Given the description of an element on the screen output the (x, y) to click on. 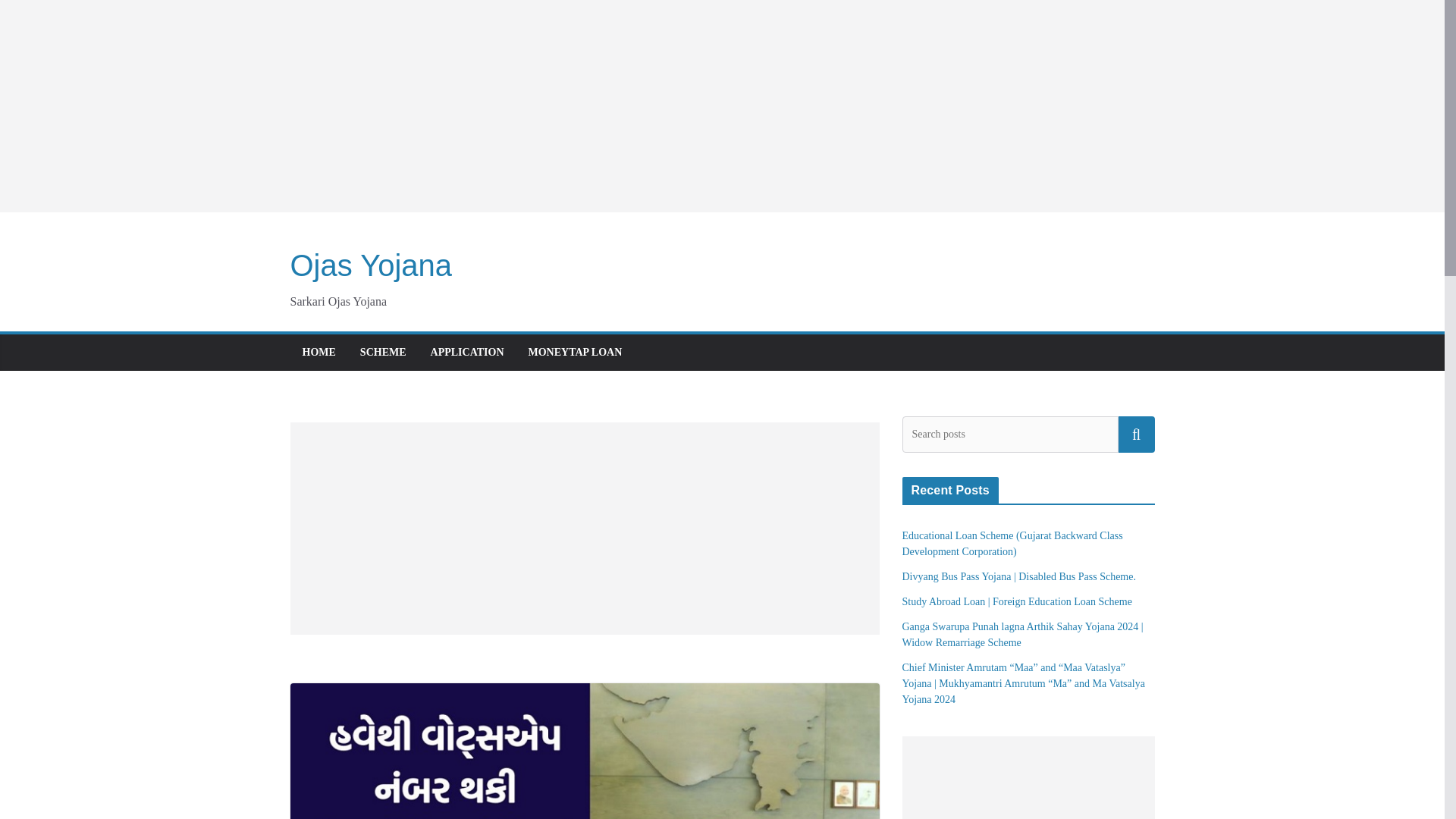
Ojas Yojana  (370, 264)
Advertisement (1028, 777)
HOME (317, 352)
APPLICATION (466, 352)
Advertisement (584, 528)
Ojas Yojana (370, 264)
MONEYTAP LOAN (574, 352)
SCHEME (382, 352)
Search (1136, 434)
